Given the description of an element on the screen output the (x, y) to click on. 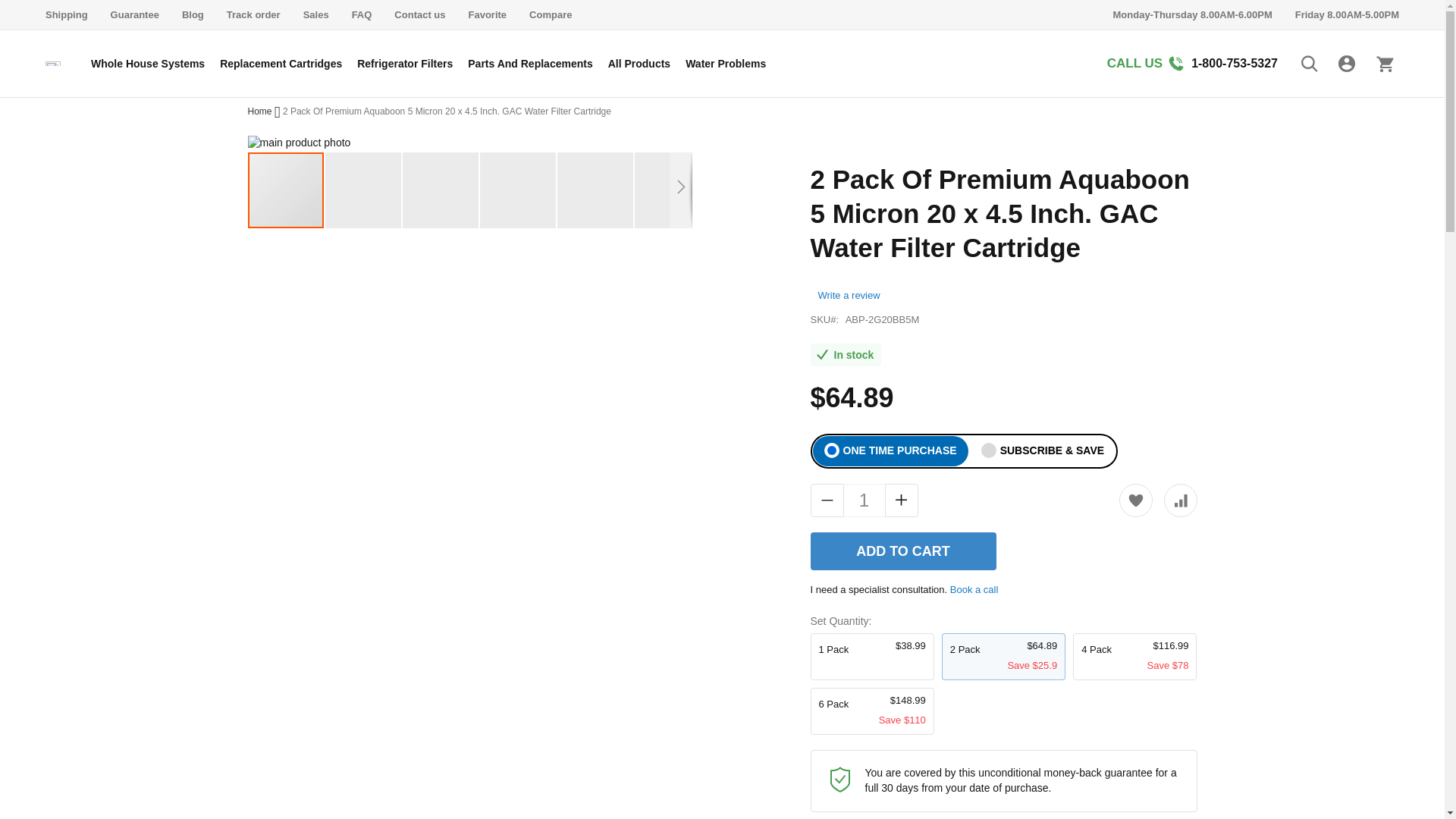
Track order (254, 14)
Compare Products (550, 14)
1 (863, 500)
Contact us (419, 14)
Availability (844, 354)
Add to Cart (902, 551)
Blog (192, 14)
Shipping (66, 14)
Compare (550, 14)
FAQ (362, 14)
